Given the description of an element on the screen output the (x, y) to click on. 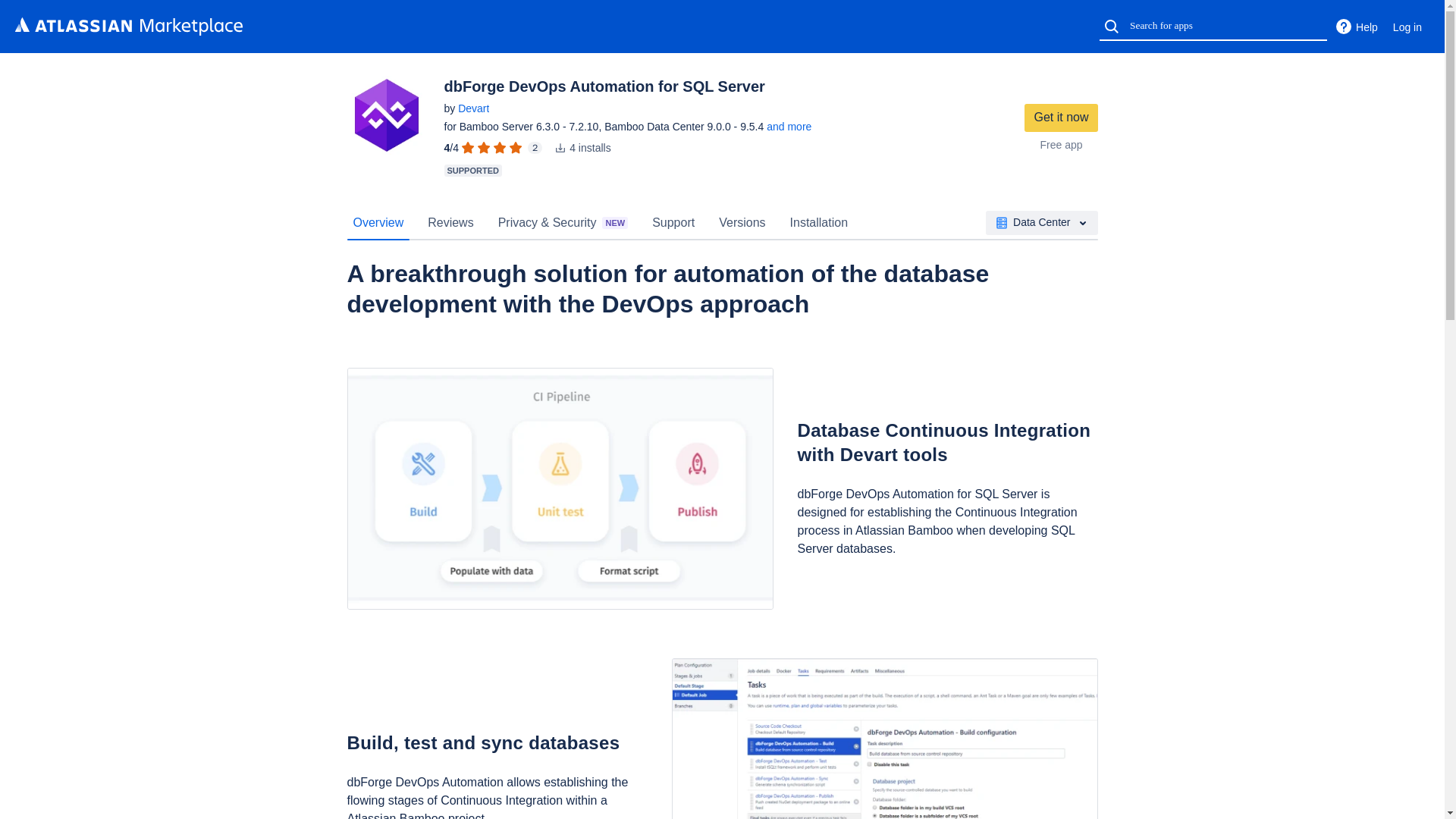
View version history for more details (788, 126)
and more (788, 126)
Get it now (1061, 117)
Help (1356, 26)
Devart (473, 108)
Log in (1407, 26)
Data Center (1041, 222)
Atlassian Marketplace (128, 26)
